Given the description of an element on the screen output the (x, y) to click on. 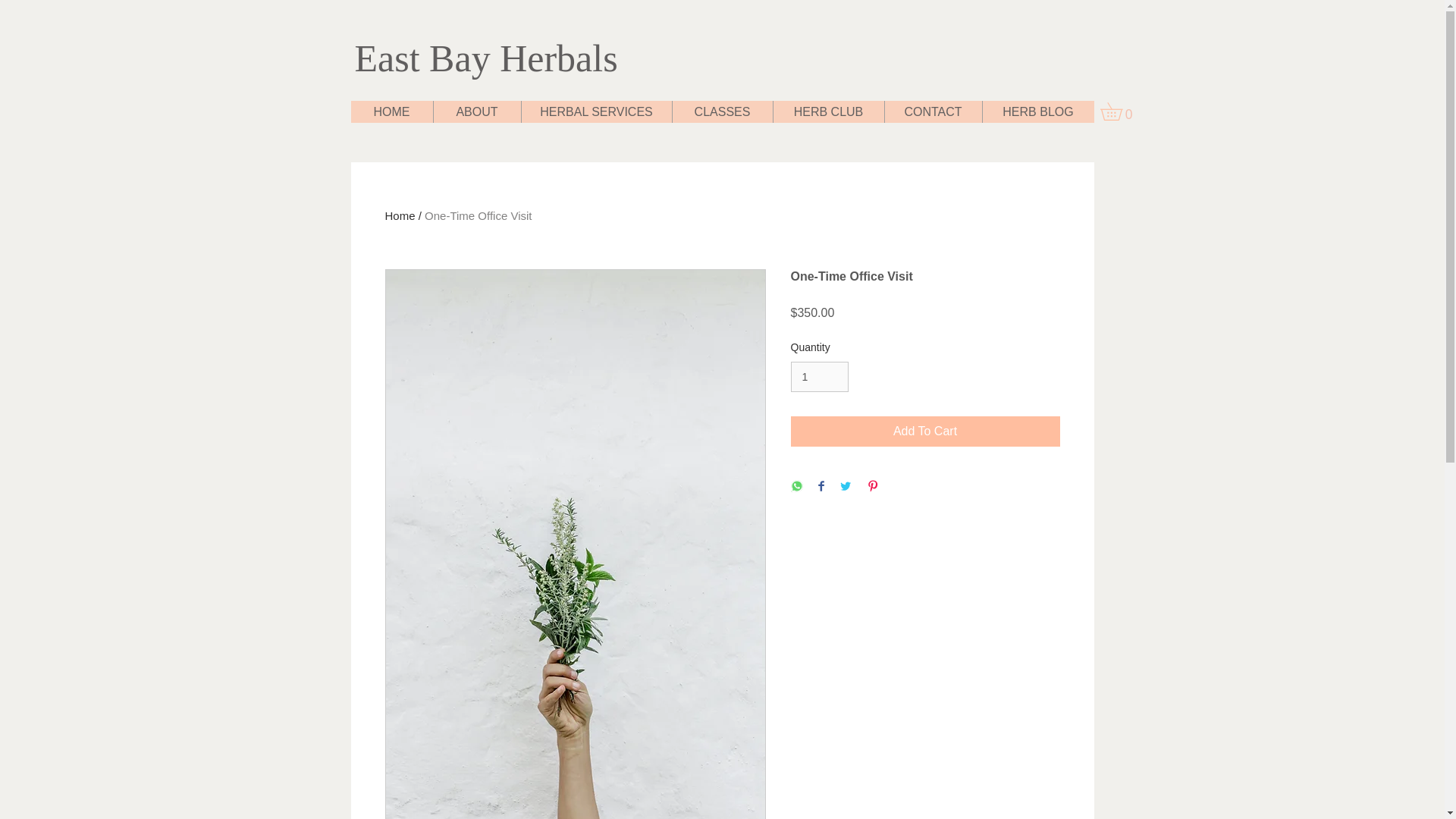
One-Time Office Visit (478, 215)
1 (818, 377)
Add To Cart (924, 431)
ABOUT (475, 111)
0 (1118, 111)
HERBAL SERVICES (595, 111)
HOME (391, 111)
CONTACT (932, 111)
HERB CLUB (827, 111)
HERB BLOG (1037, 111)
